Given the description of an element on the screen output the (x, y) to click on. 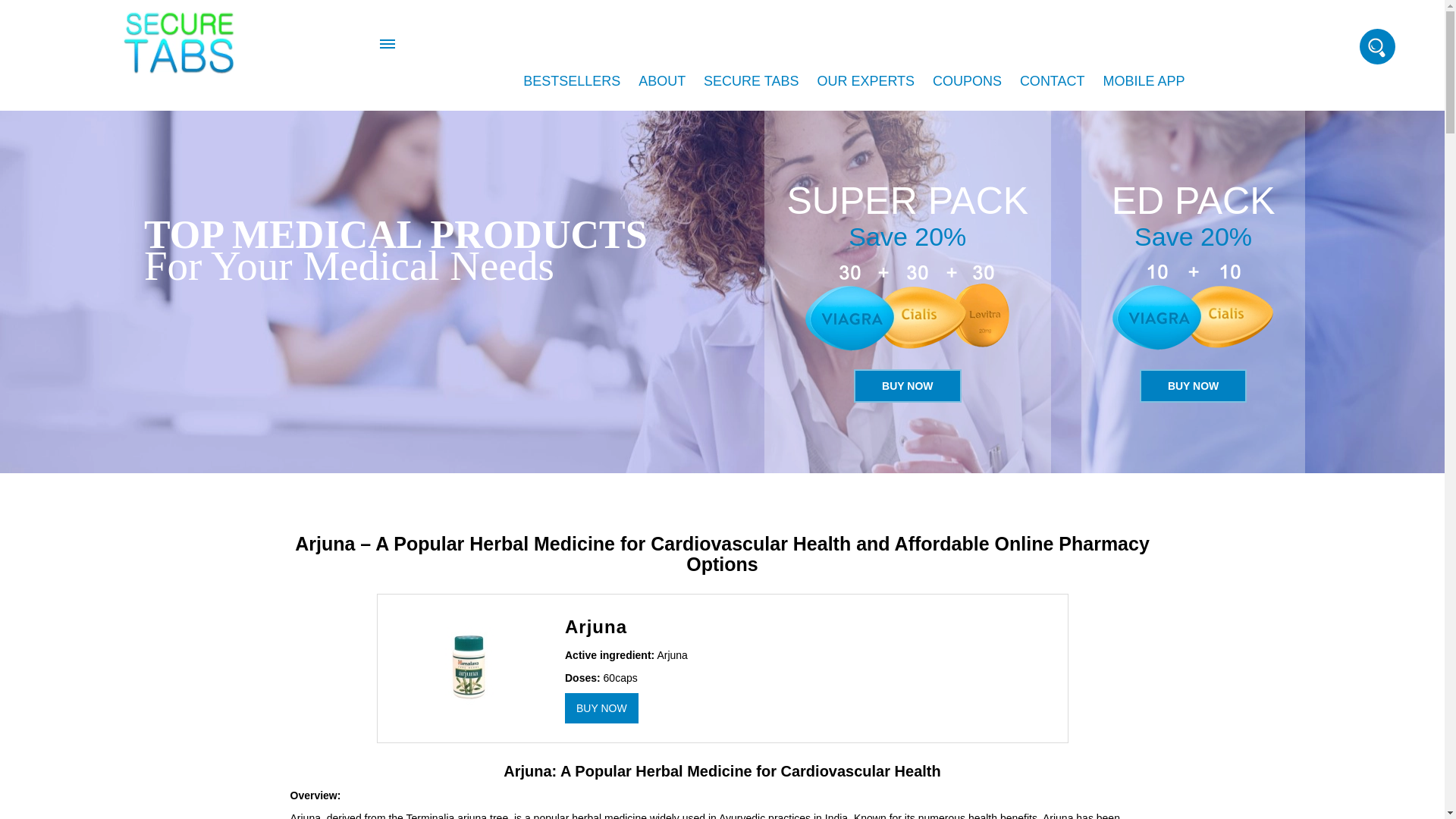
SECURE TABS (750, 81)
BUY NOW (601, 707)
ABOUT (661, 81)
search (21, 7)
Buy Now (601, 707)
OUR EXPERTS (865, 81)
Menu (387, 43)
Buy Now (1193, 385)
MOBILE APP (1143, 81)
CONTACT (1052, 81)
COUPONS (966, 81)
Buy Now (906, 385)
BUY NOW (1193, 385)
BUY NOW (906, 385)
Search: (1376, 46)
